Given the description of an element on the screen output the (x, y) to click on. 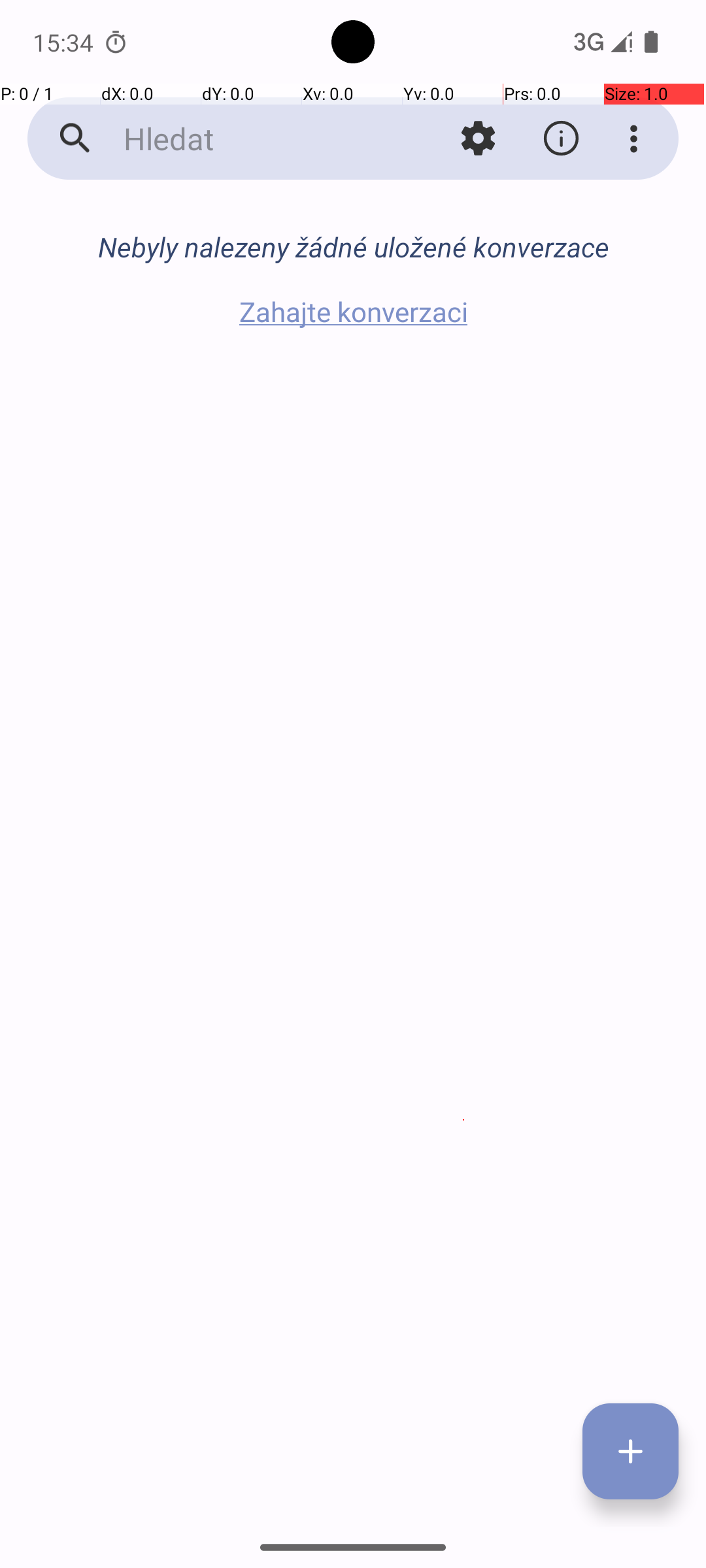
O aplikaci Element type: android.widget.Button (560, 138)
Nebyly nalezeny žádné uložené konverzace Element type: android.widget.TextView (353, 246)
Zahajte konverzaci Element type: android.widget.TextView (352, 311)
